Given the description of an element on the screen output the (x, y) to click on. 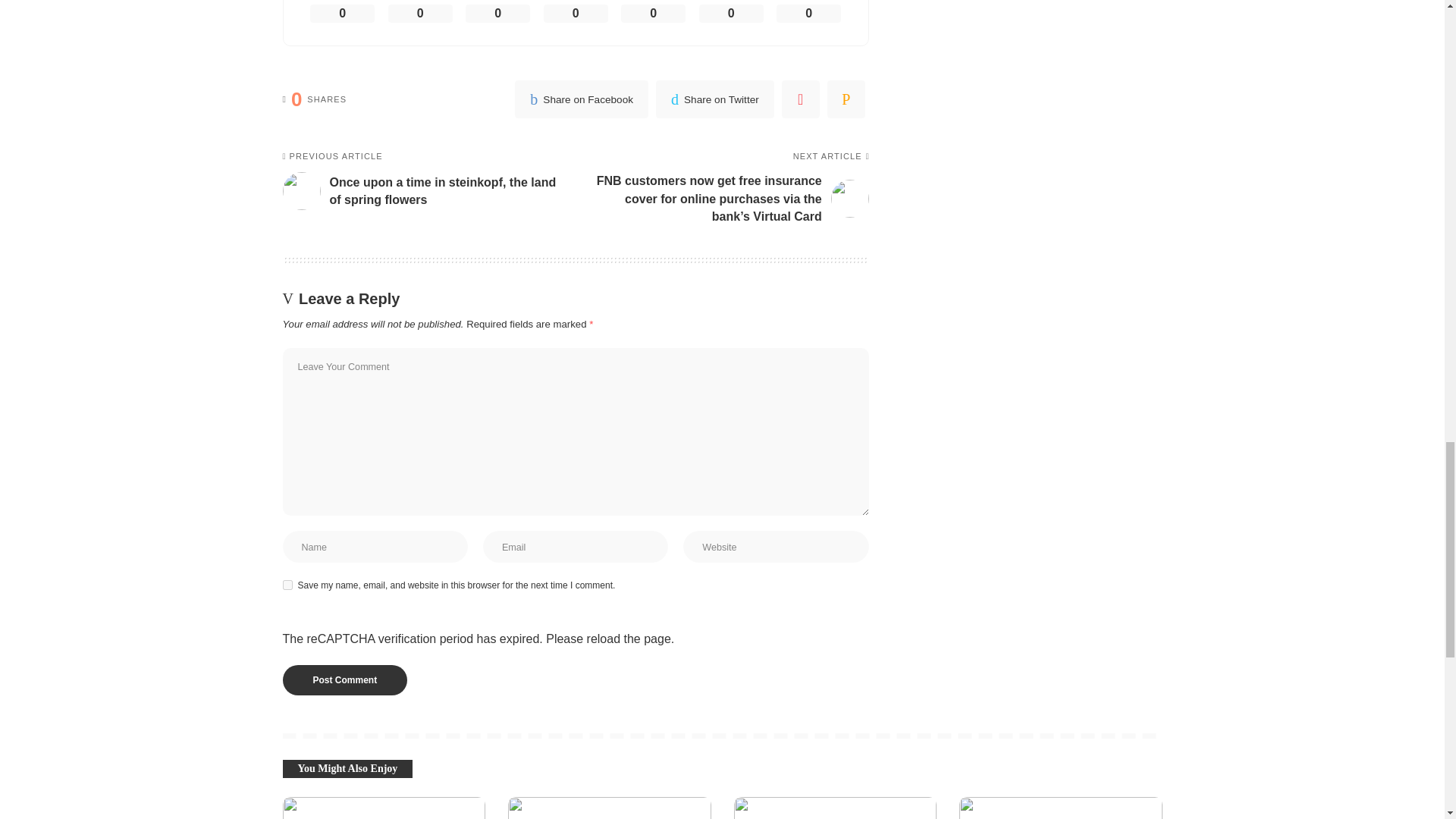
yes (287, 584)
Post Comment (344, 679)
